Given the description of an element on the screen output the (x, y) to click on. 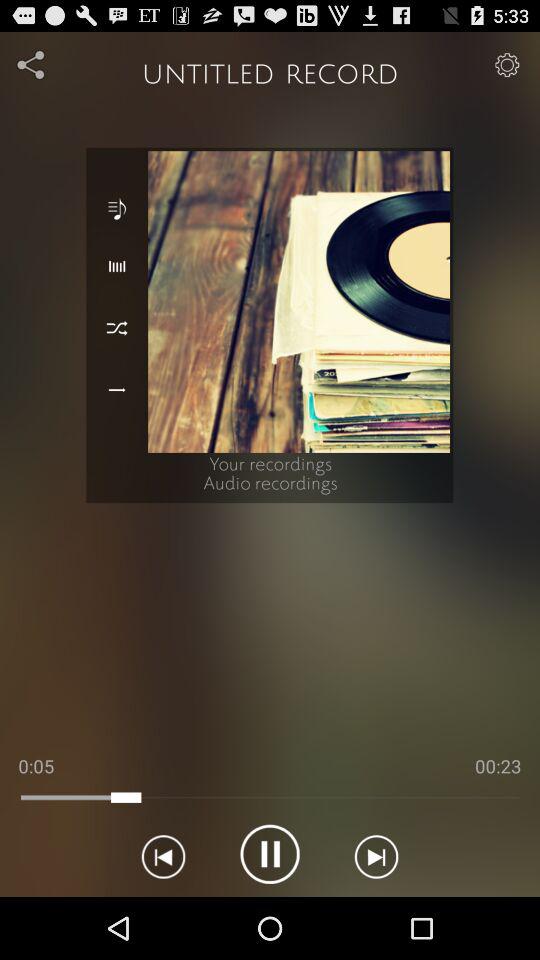
go to next (376, 853)
